Given the description of an element on the screen output the (x, y) to click on. 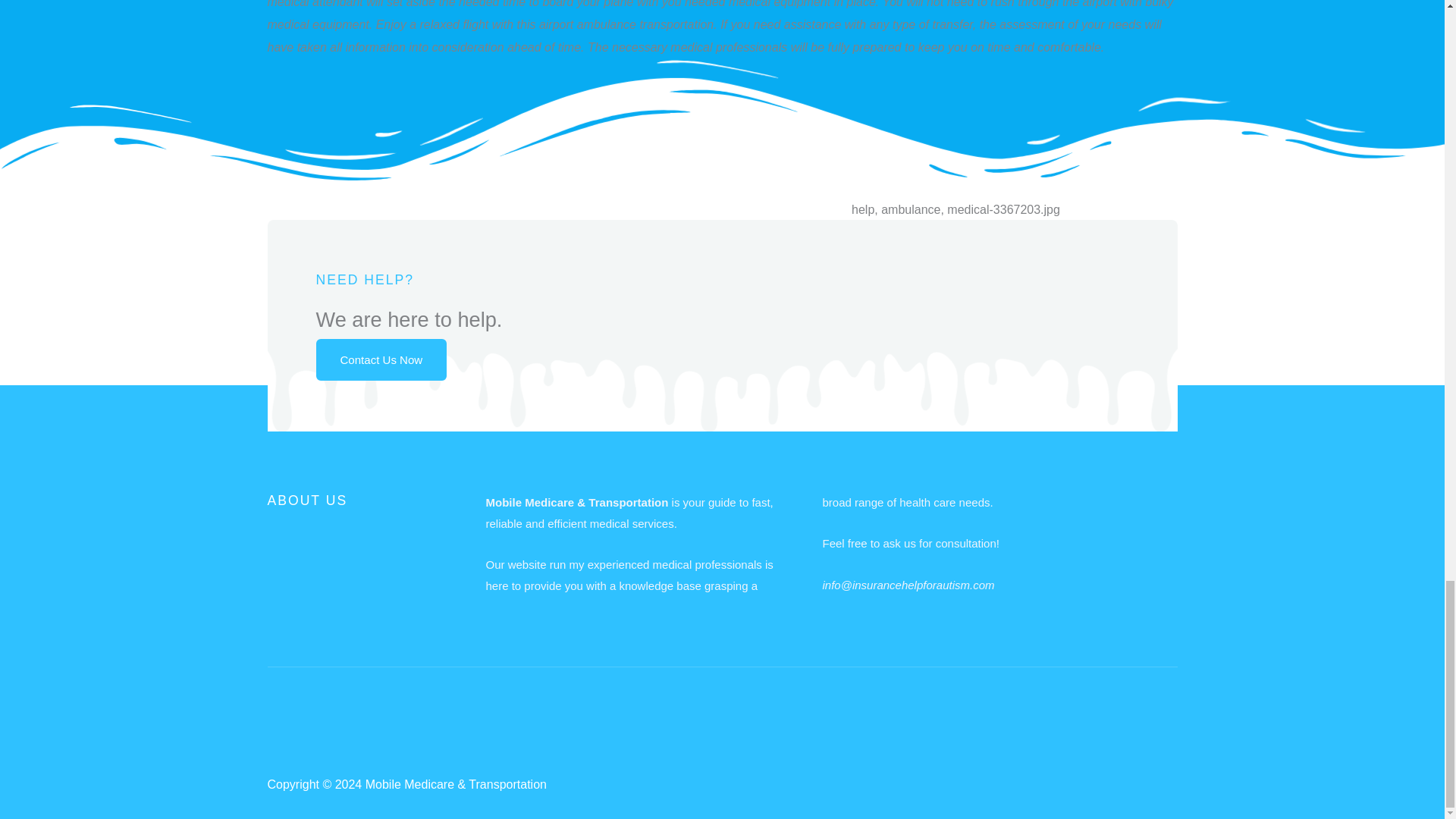
Contact Us Now (380, 359)
